Given the description of an element on the screen output the (x, y) to click on. 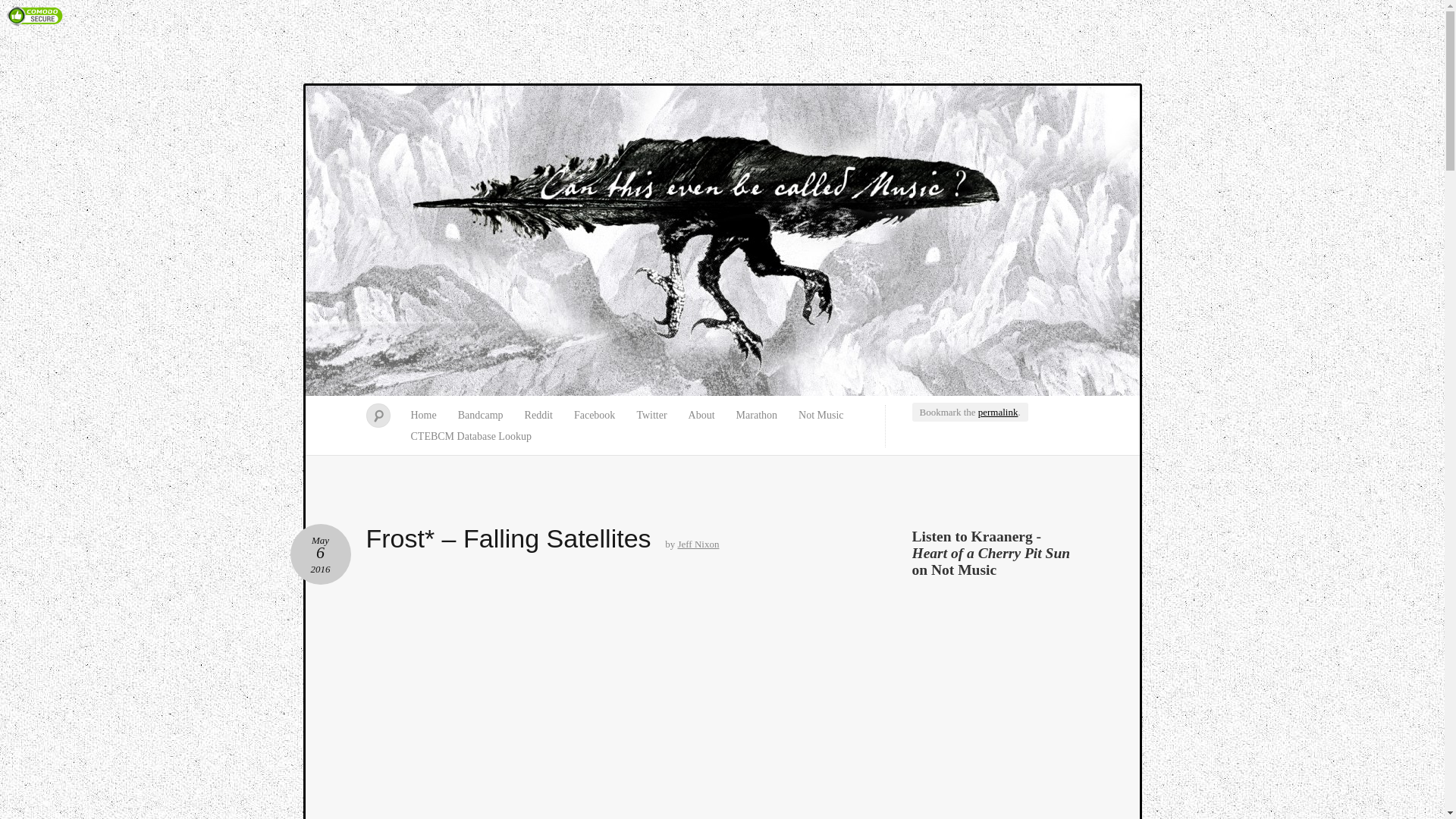
Marathon (756, 414)
Bandcamp (479, 414)
Search (19, 8)
Facebook (594, 414)
About (701, 414)
Home (423, 414)
Jeff Nixon (698, 543)
View all posts by Jeff Nixon (698, 543)
CTEBCM Database Lookup (470, 436)
